Given the description of an element on the screen output the (x, y) to click on. 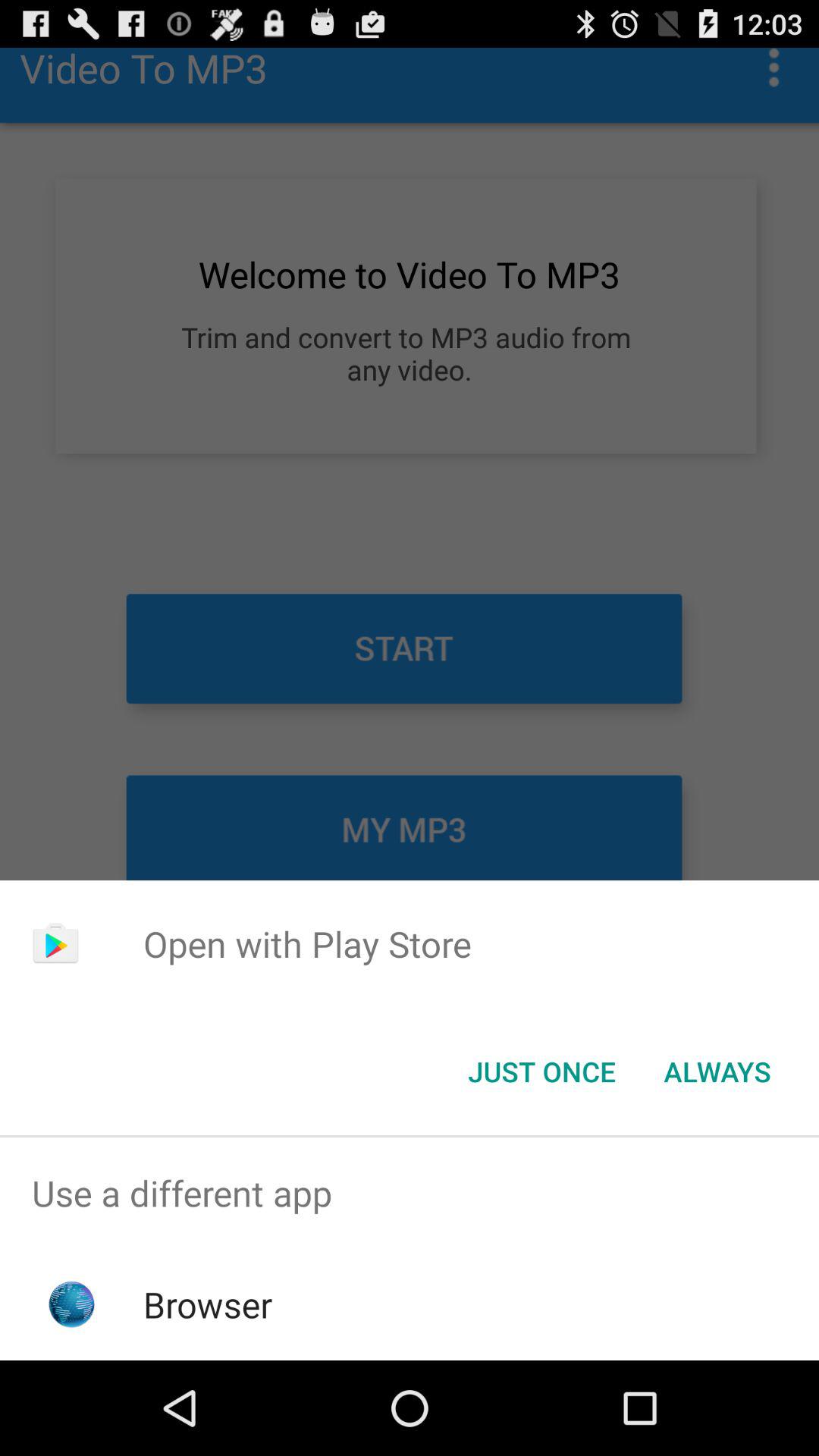
flip until browser icon (207, 1304)
